Given the description of an element on the screen output the (x, y) to click on. 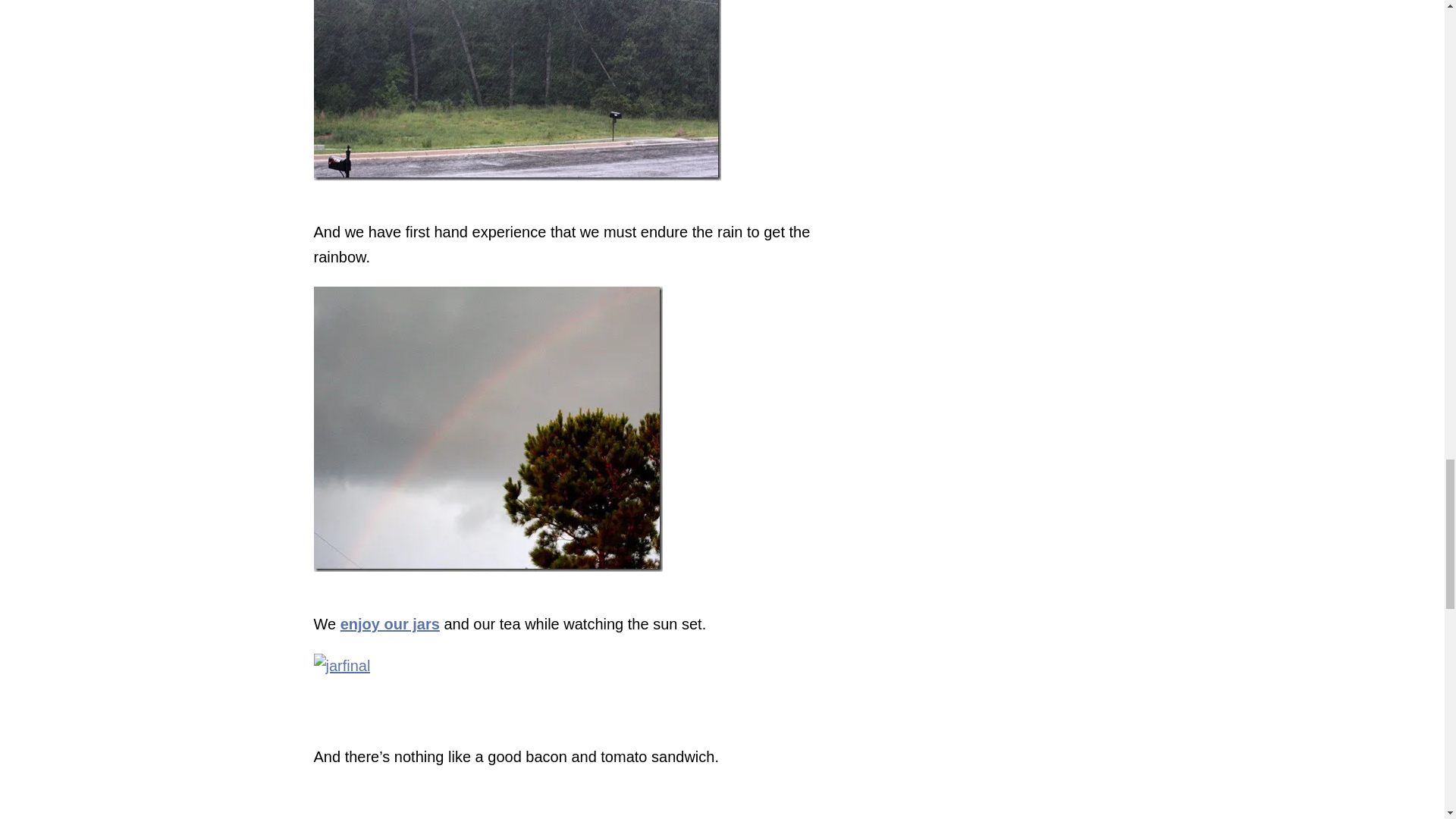
jarfinal (342, 682)
rain (517, 90)
rainbow (488, 428)
